Given the description of an element on the screen output the (x, y) to click on. 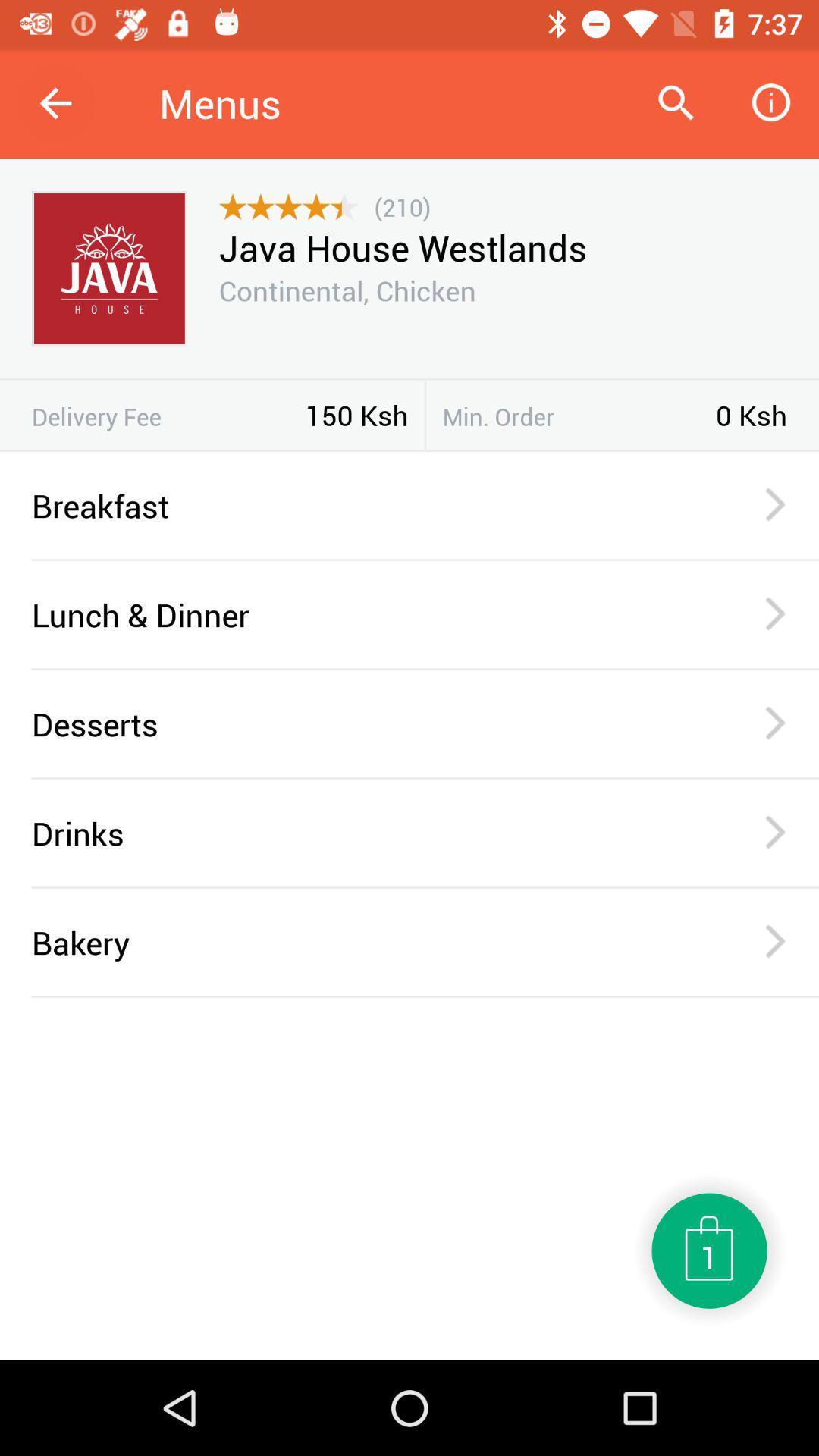
turn on item next to min. order icon (425, 414)
